Given the description of an element on the screen output the (x, y) to click on. 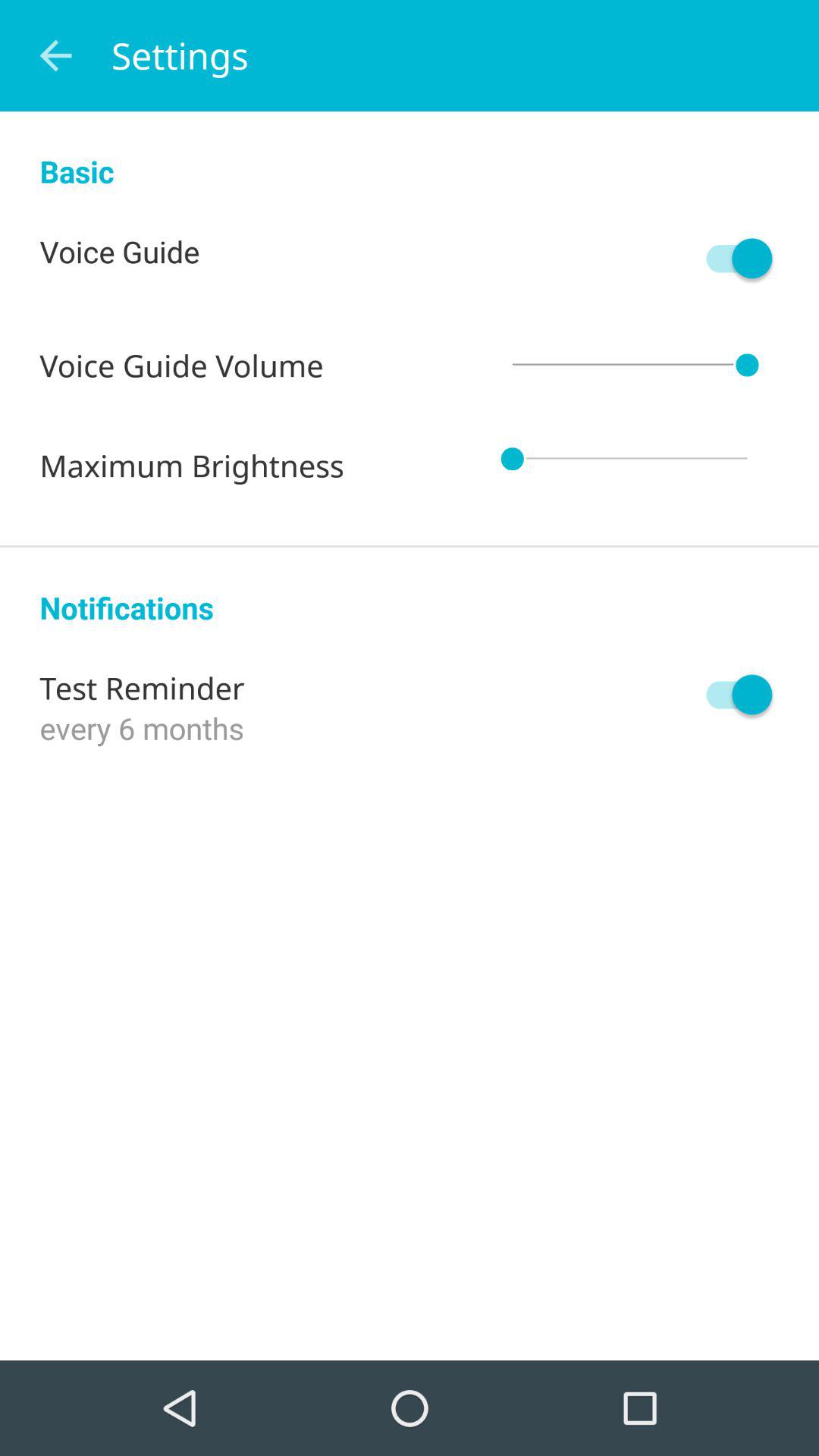
choose the icon to the right of voice guide icon (731, 258)
